Given the description of an element on the screen output the (x, y) to click on. 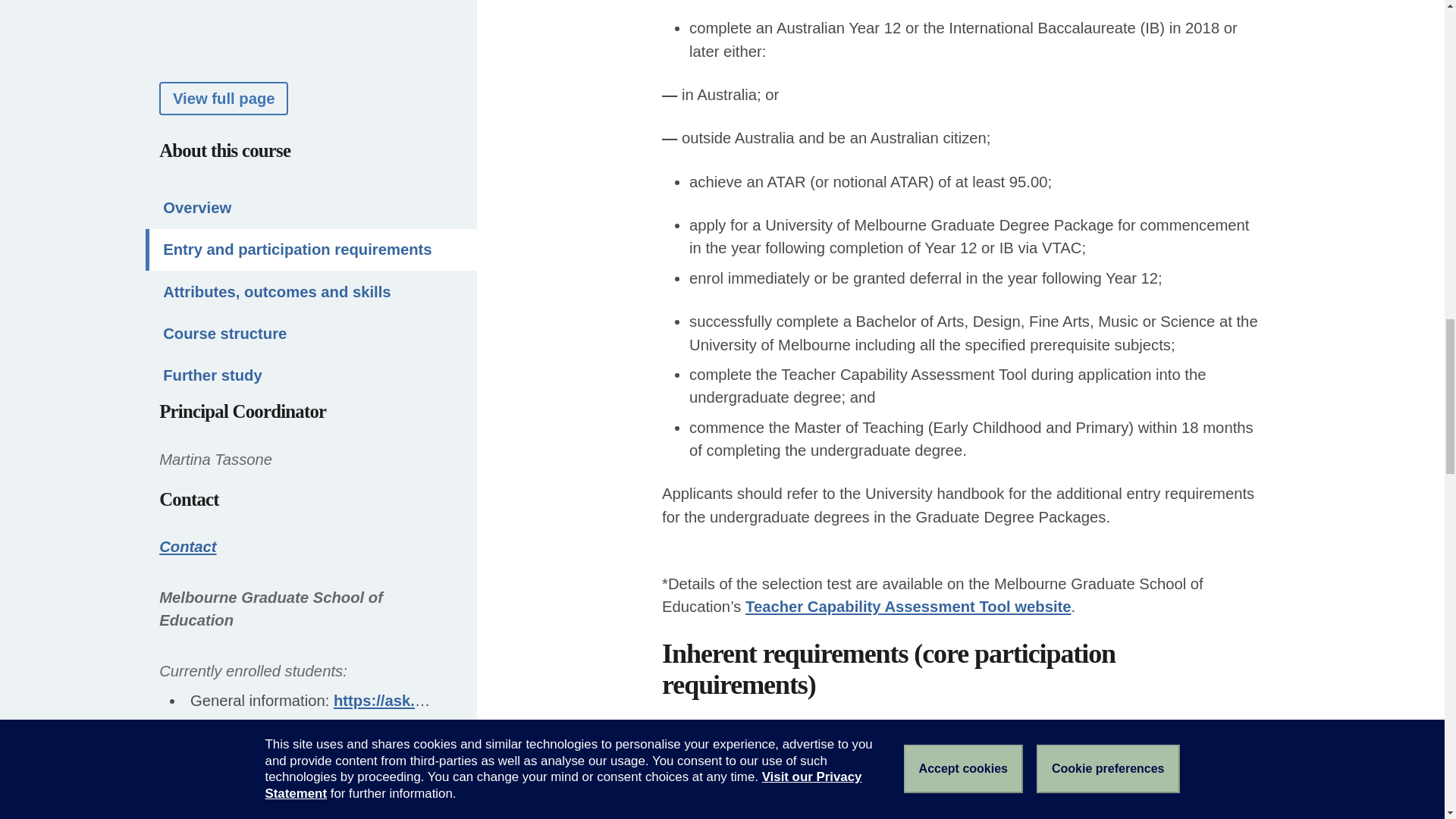
Teacher Capability Assessment Tool website (908, 606)
